Given the description of an element on the screen output the (x, y) to click on. 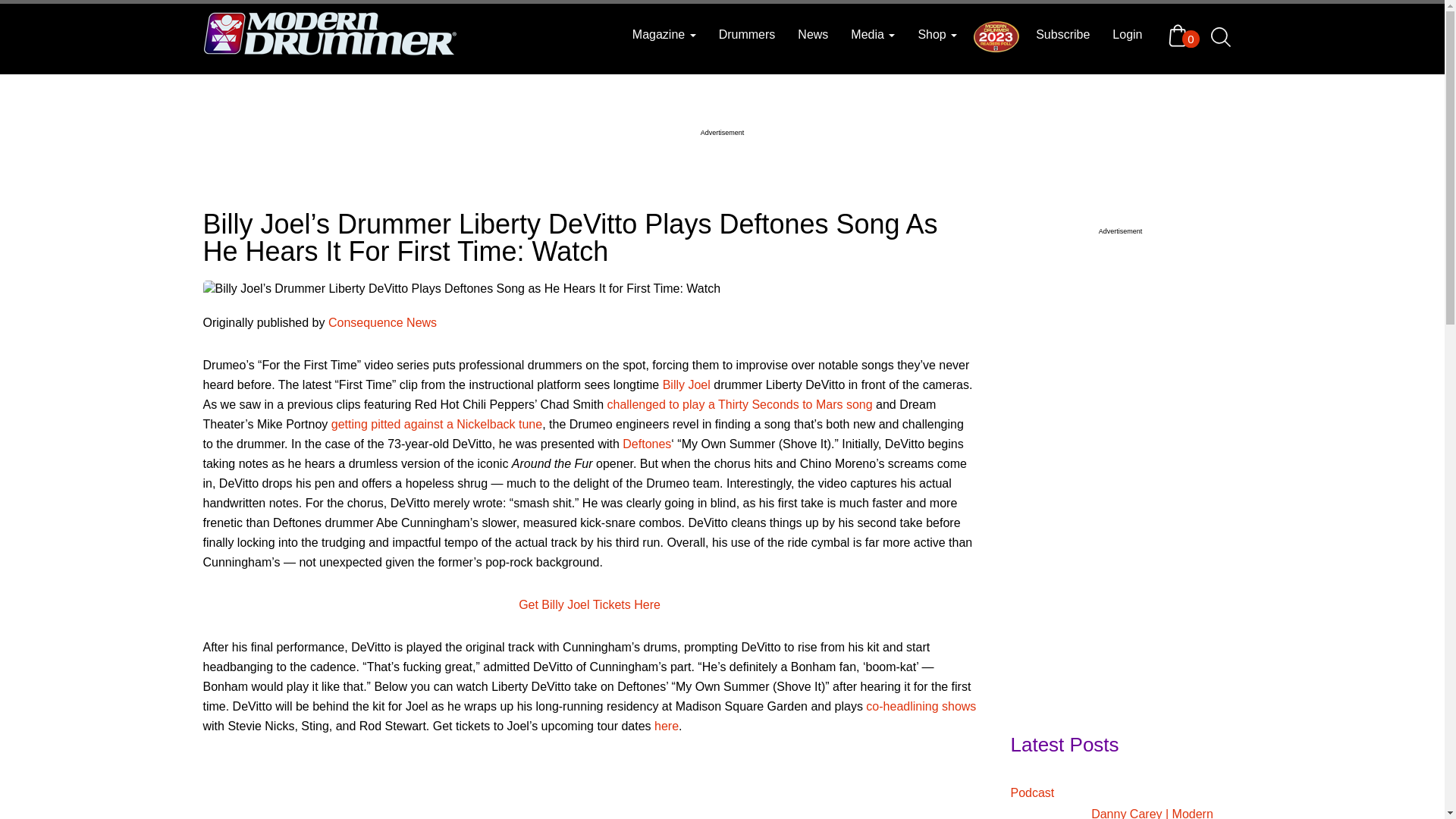
Drummers (747, 34)
0 (1180, 35)
Magazine (664, 34)
Shop (936, 34)
Subscribe (1062, 34)
subscribe (1062, 34)
View your Orders (1180, 35)
Media (872, 34)
